Given the description of an element on the screen output the (x, y) to click on. 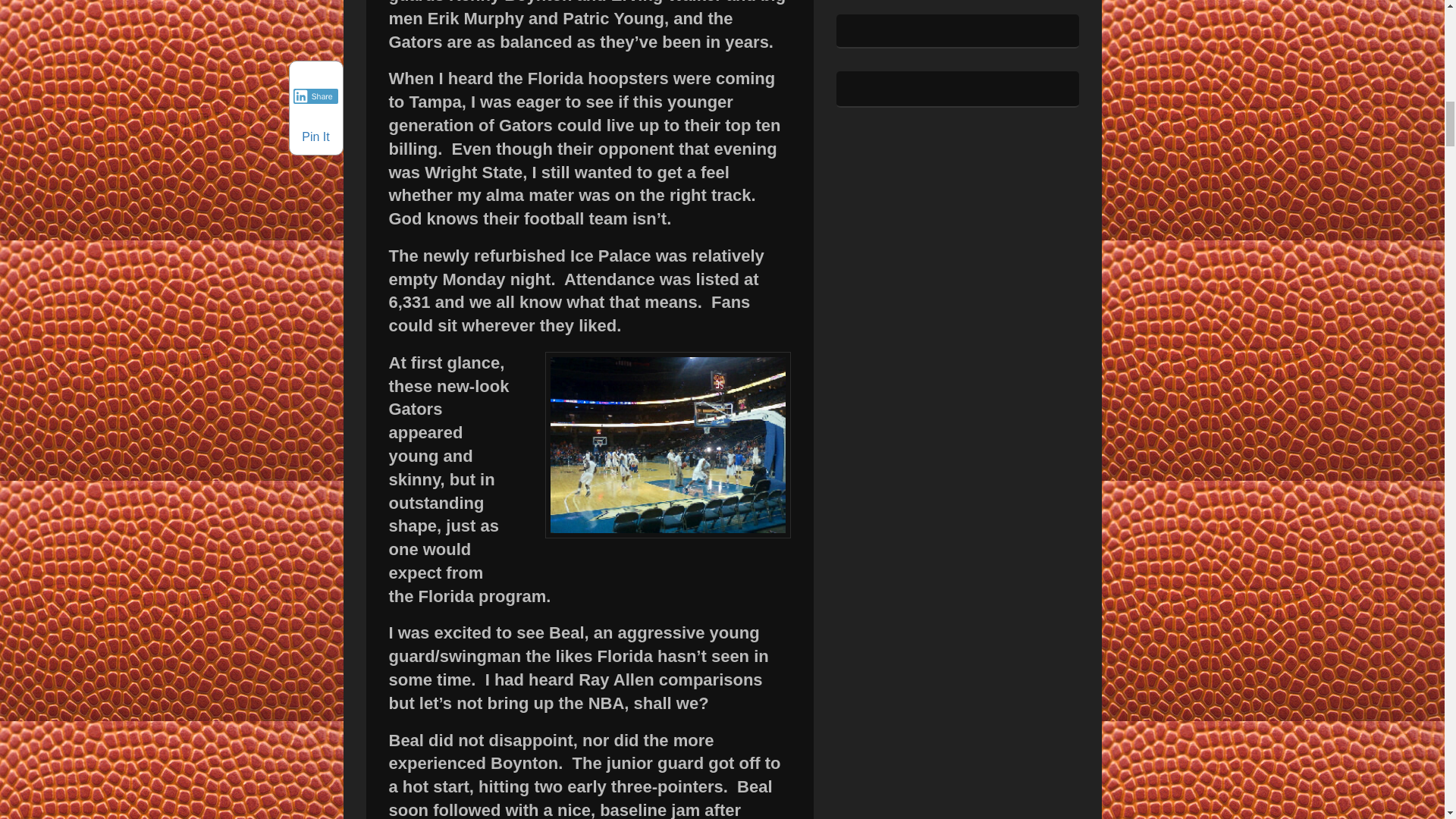
Gator warmups (667, 445)
